Given the description of an element on the screen output the (x, y) to click on. 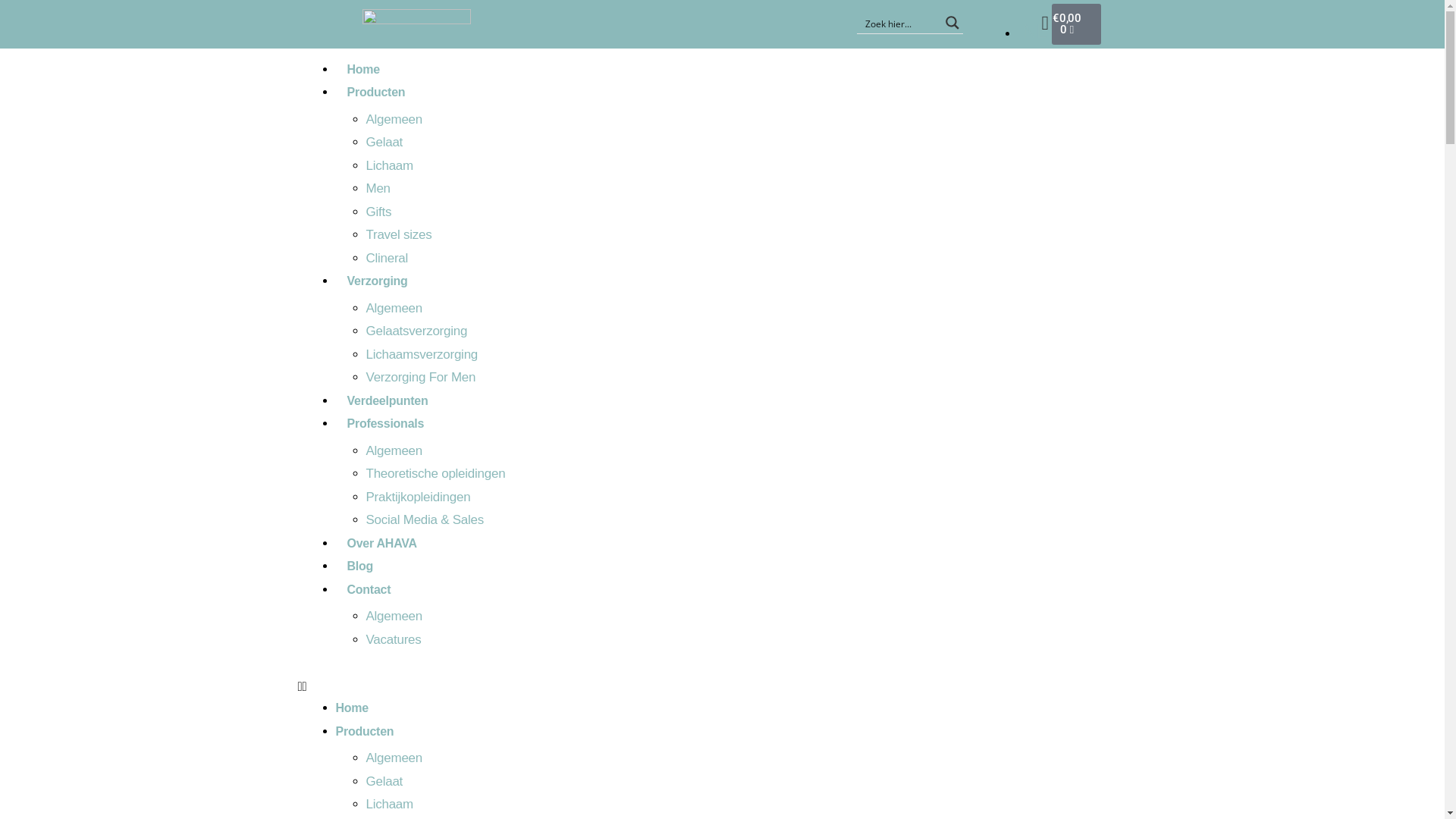
Algemeen Element type: text (393, 450)
Professionals Element type: text (385, 423)
Gifts Element type: text (378, 211)
Gelaat Element type: text (383, 781)
Over AHAVA Element type: text (381, 542)
Verzorging Element type: text (376, 280)
Lichaam Element type: text (388, 165)
Gelaatsverzorging Element type: text (416, 330)
Verdeelpunten Element type: text (387, 400)
Algemeen Element type: text (393, 615)
Theoretische opleidingen Element type: text (435, 473)
FR Element type: text (1034, 62)
Clineral Element type: text (386, 258)
Lichaam Element type: text (388, 804)
Blog Element type: text (359, 565)
Contact Element type: text (368, 589)
Travel sizes Element type: text (398, 234)
NL Element type: text (1033, 30)
Gelaat Element type: text (383, 141)
Vacatures Element type: text (392, 639)
Algemeen Element type: text (393, 119)
Praktijkopleidingen Element type: text (417, 496)
Algemeen Element type: text (393, 308)
Home Element type: text (362, 68)
Lichaamsverzorging Element type: text (421, 354)
FR Element type: text (1029, 154)
Social Media & Sales Element type: text (424, 519)
Algemeen Element type: text (393, 757)
Producten Element type: text (375, 91)
NL Element type: text (1029, 121)
Producten Element type: text (364, 730)
Verzorging For Men Element type: text (420, 377)
Home Element type: text (351, 707)
Men Element type: text (377, 188)
